Given the description of an element on the screen output the (x, y) to click on. 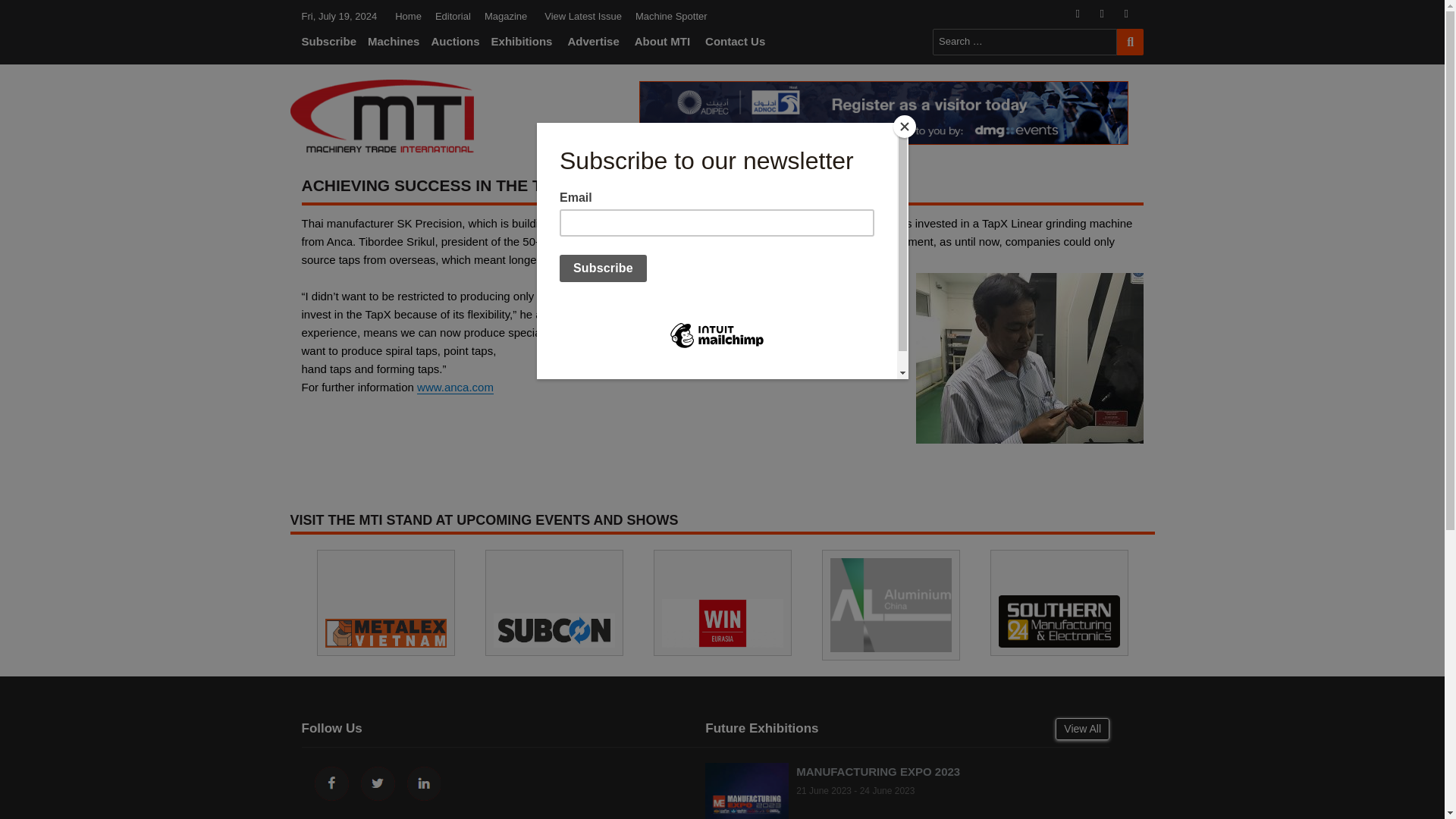
twtr (1108, 13)
Machines (395, 42)
fb (1084, 13)
Home (408, 16)
Machine Spotter (671, 16)
Editorial (452, 16)
View Latest Issue (582, 16)
Subscribe (333, 42)
ln (1133, 13)
Magazine (505, 16)
